Given the description of an element on the screen output the (x, y) to click on. 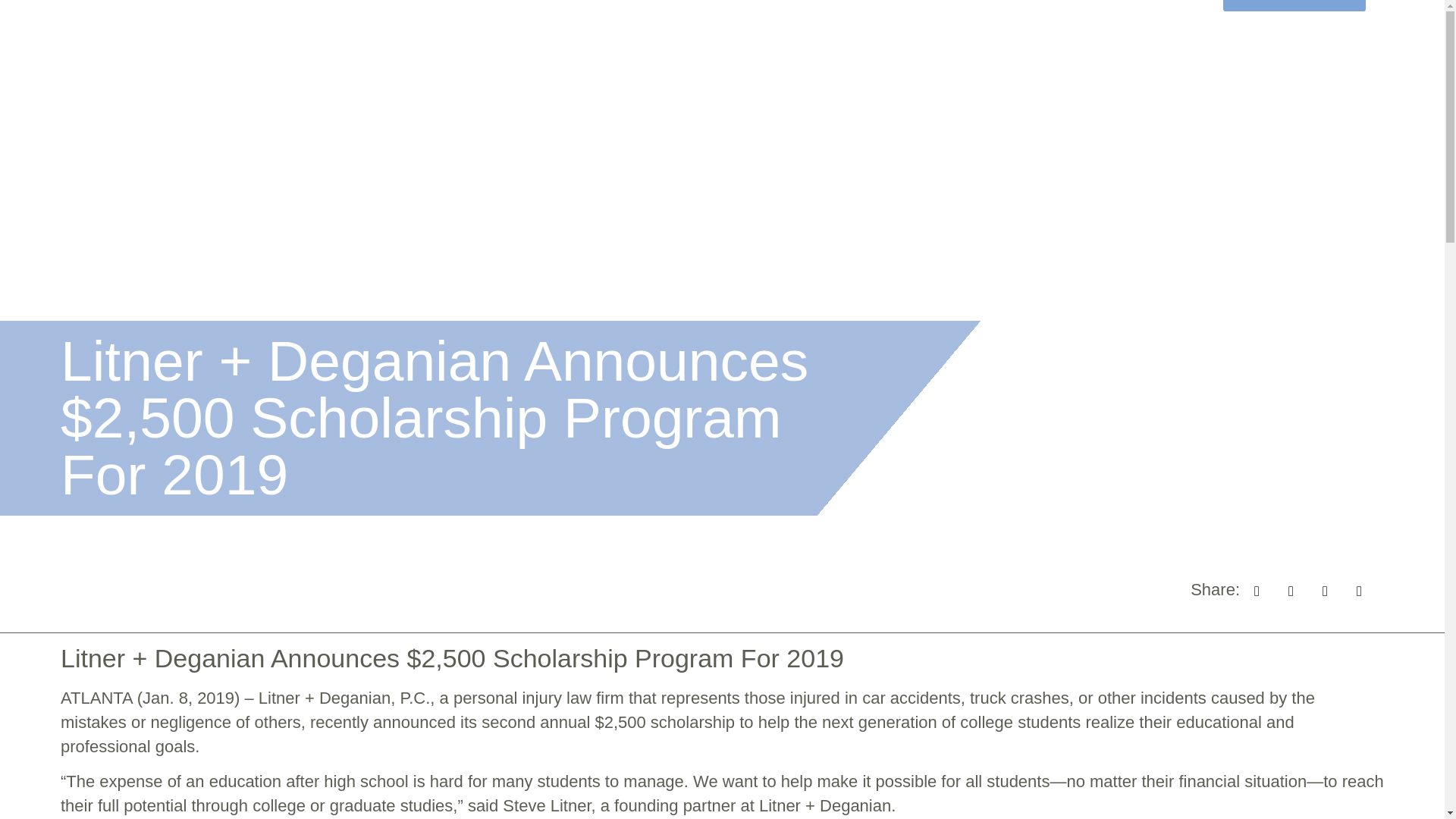
COMMUNITY (733, 27)
ABOUT US (527, 27)
BLOG (827, 27)
SETTLEMENTS (626, 27)
